Given the description of an element on the screen output the (x, y) to click on. 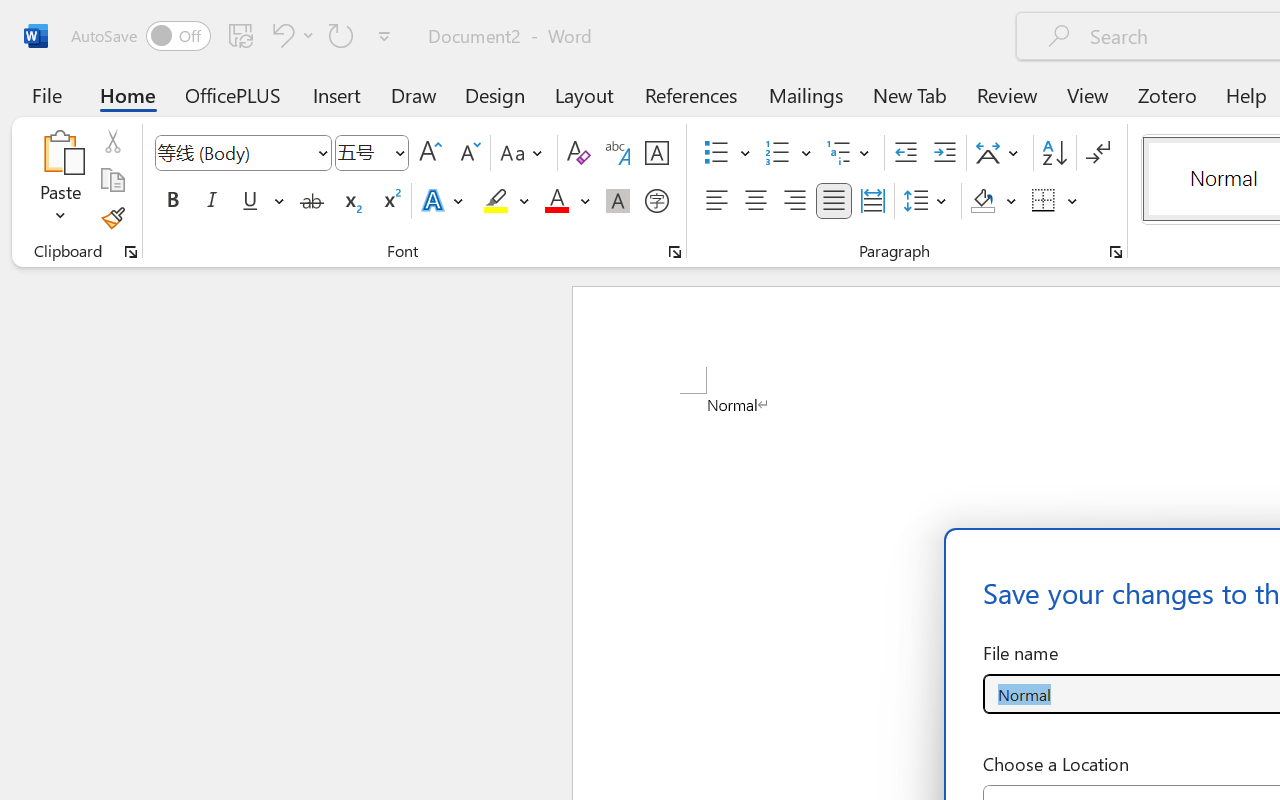
Undo Apply Quick Style (290, 35)
Paste (60, 179)
Shading RGB(0, 0, 0) (982, 201)
Borders (1055, 201)
Character Shading (618, 201)
Enclose Characters... (656, 201)
Shrink Font (468, 153)
Clear Formatting (578, 153)
Bullets (727, 153)
Copy (112, 179)
Align Left (716, 201)
Customize Quick Access Toolbar (384, 35)
Character Border (656, 153)
Text Highlight Color (506, 201)
Layout (584, 94)
